Given the description of an element on the screen output the (x, y) to click on. 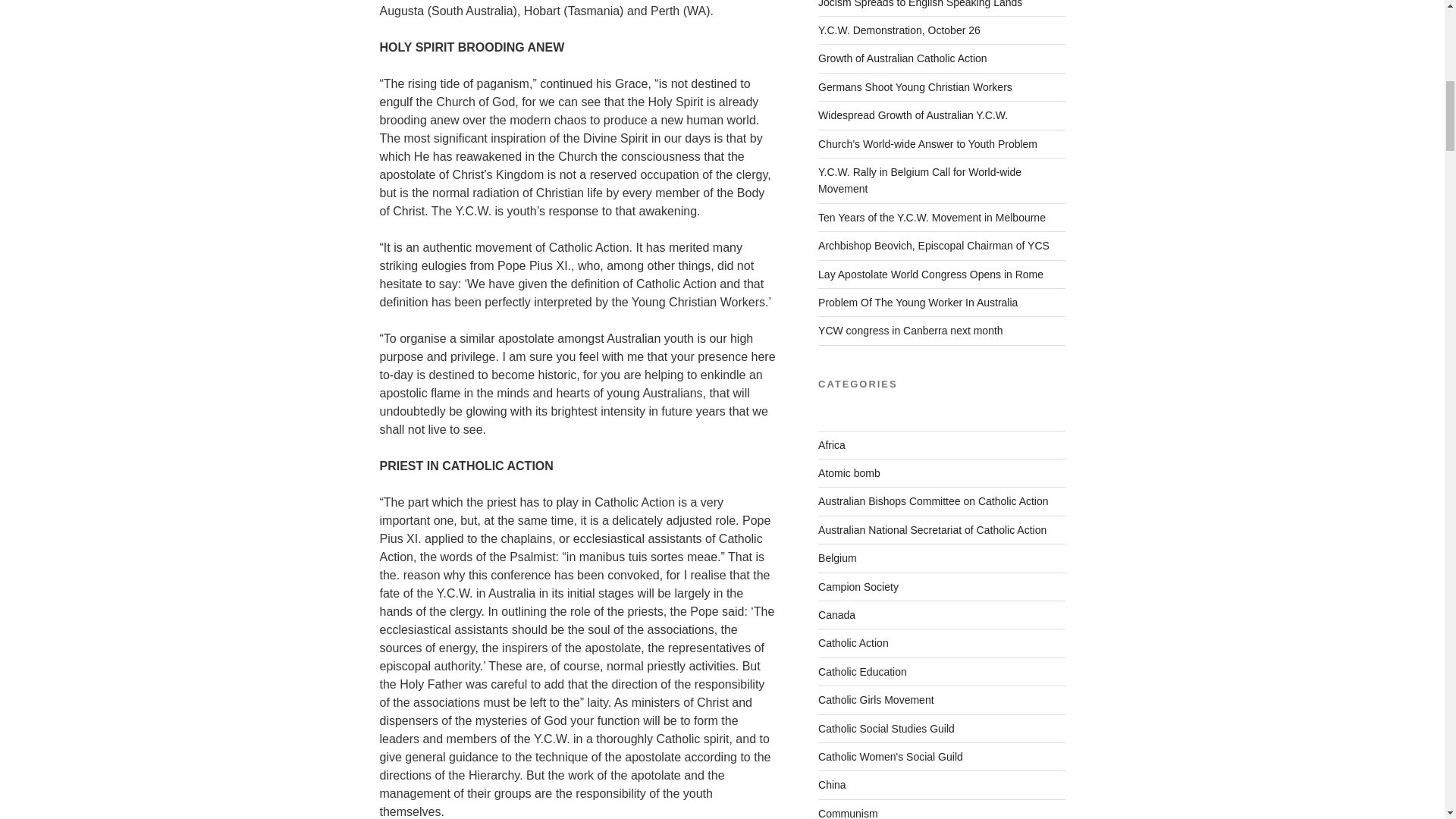
Australian Bishops Committee on Catholic Action (933, 500)
Problem Of The Young Worker In Australia (917, 302)
Lay Apostolate World Congress Opens in Rome (930, 274)
Jocism Spreads to English Speaking Lands (920, 4)
Y.C.W. Rally in Belgium Call for World-wide Movement (920, 180)
YCW congress in Canberra next month (910, 330)
Y.C.W. Demonstration, October 26 (898, 30)
Widespread Growth of Australian Y.C.W. (912, 114)
Growth of Australian Catholic Action (902, 58)
Ten Years of the Y.C.W. Movement in Melbourne (931, 217)
Archbishop Beovich, Episcopal Chairman of YCS (933, 245)
Africa (831, 444)
Germans Shoot Young Christian Workers (914, 87)
Atomic bomb (849, 472)
